Given the description of an element on the screen output the (x, y) to click on. 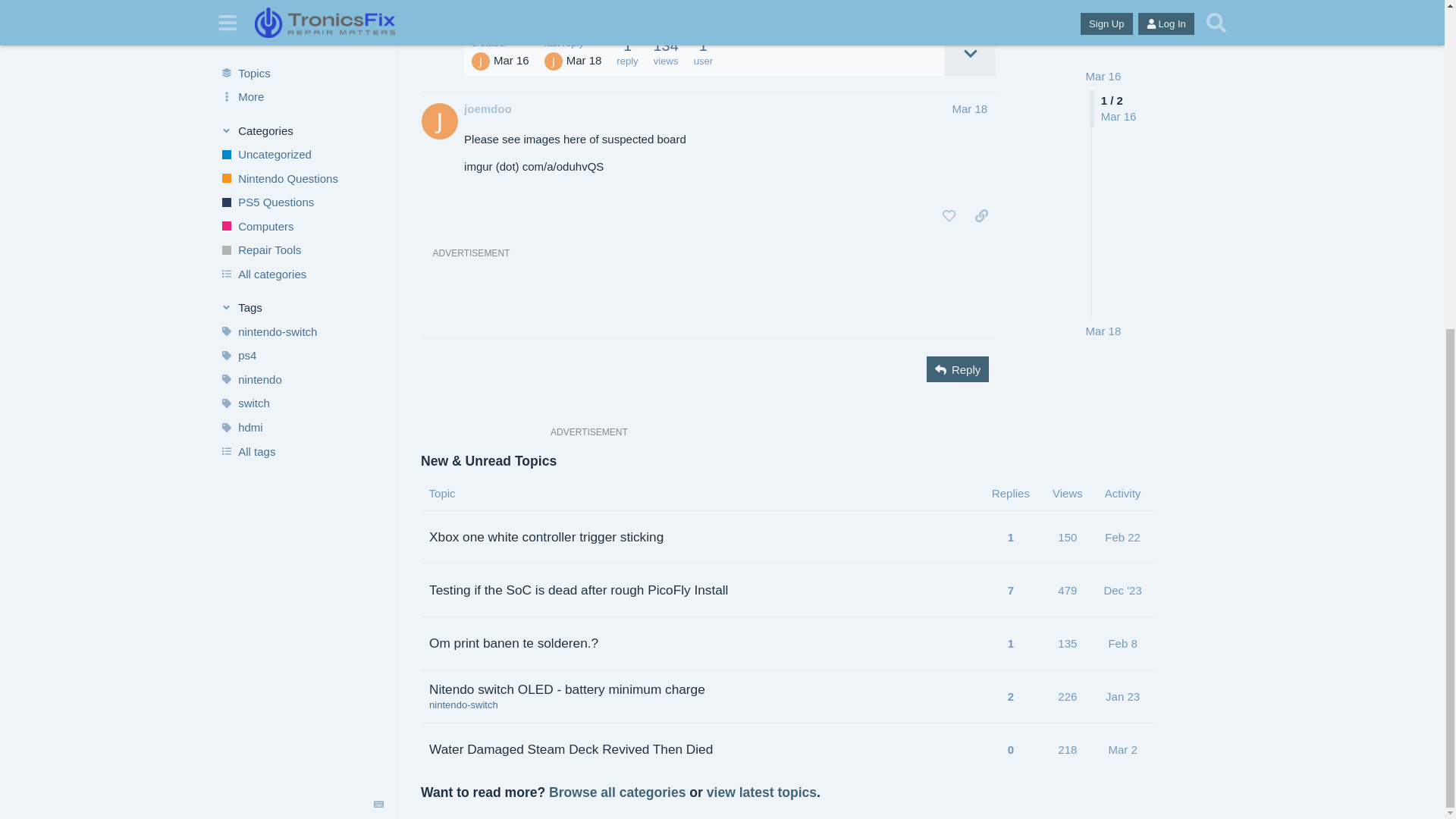
Keyboard Shortcuts (378, 260)
last reply (573, 42)
joemdoo (488, 108)
